Given the description of an element on the screen output the (x, y) to click on. 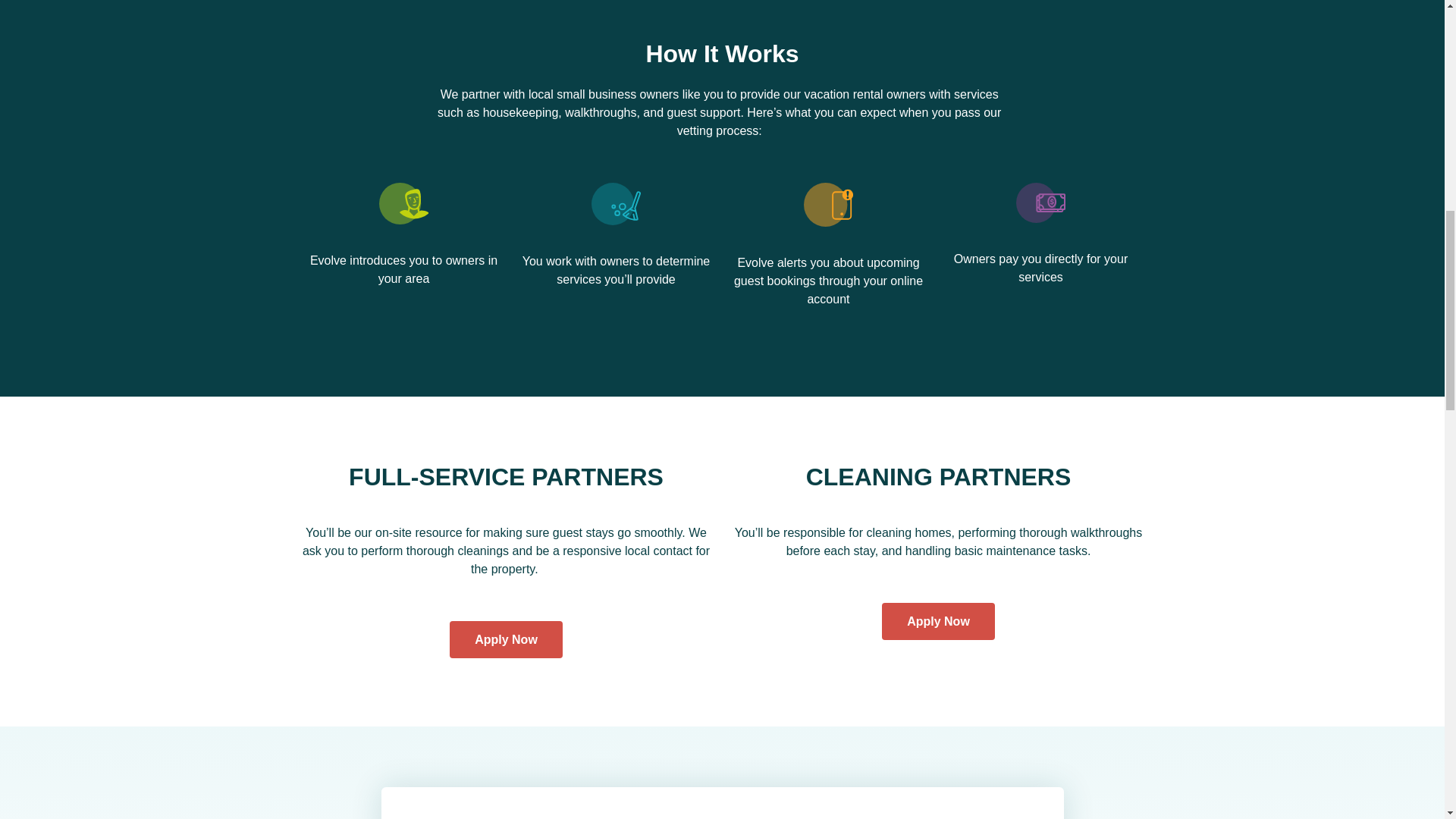
Apply Now (938, 620)
Partner-Cleaner-Owners-Alert-012020 (828, 204)
Partner-Cleaner-Owners-PayDirect-012020 (1040, 202)
Partner-Cleaner-Owners-Verified-012020 (615, 203)
Partner-Cleaner-Owners-Icon-012020 (403, 203)
Apply Now (505, 639)
